Given the description of an element on the screen output the (x, y) to click on. 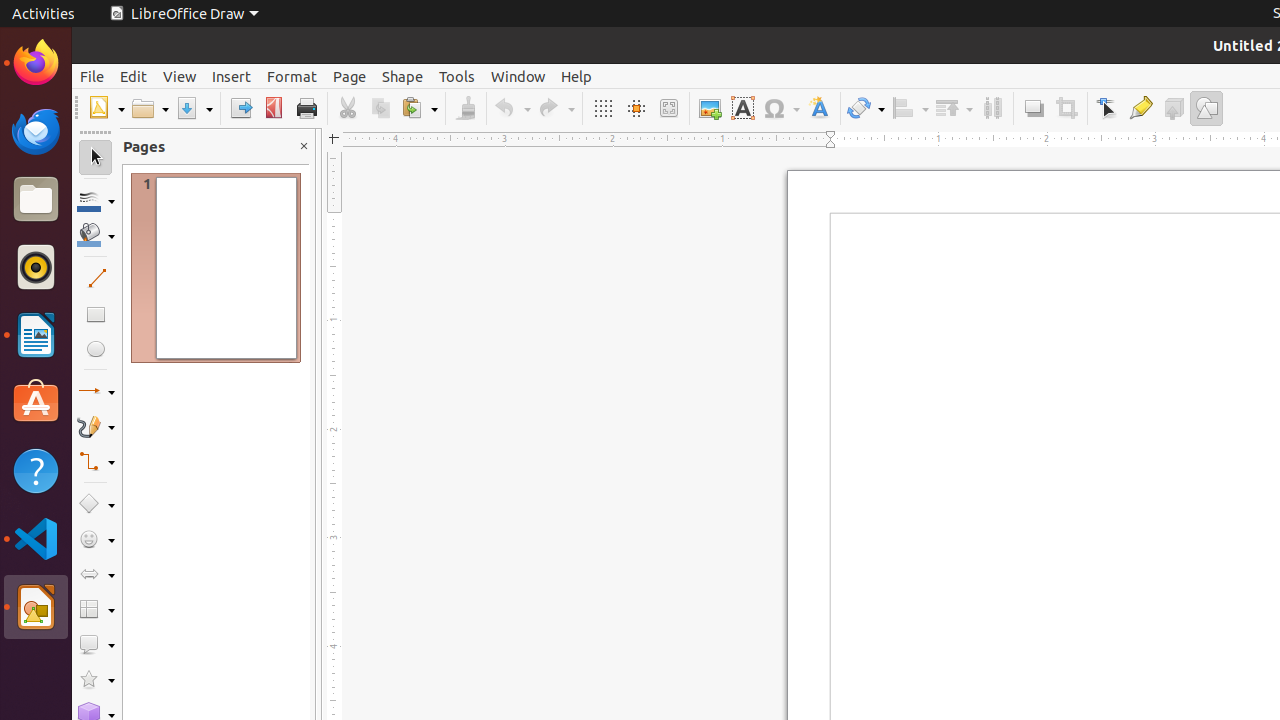
Basic Shapes Element type: push-button (96, 504)
Symbol Shapes Element type: push-button (96, 539)
Undo Element type: push-button (512, 108)
Thunderbird Mail Element type: push-button (36, 131)
Draw Functions Element type: toggle-button (1206, 108)
